Given the description of an element on the screen output the (x, y) to click on. 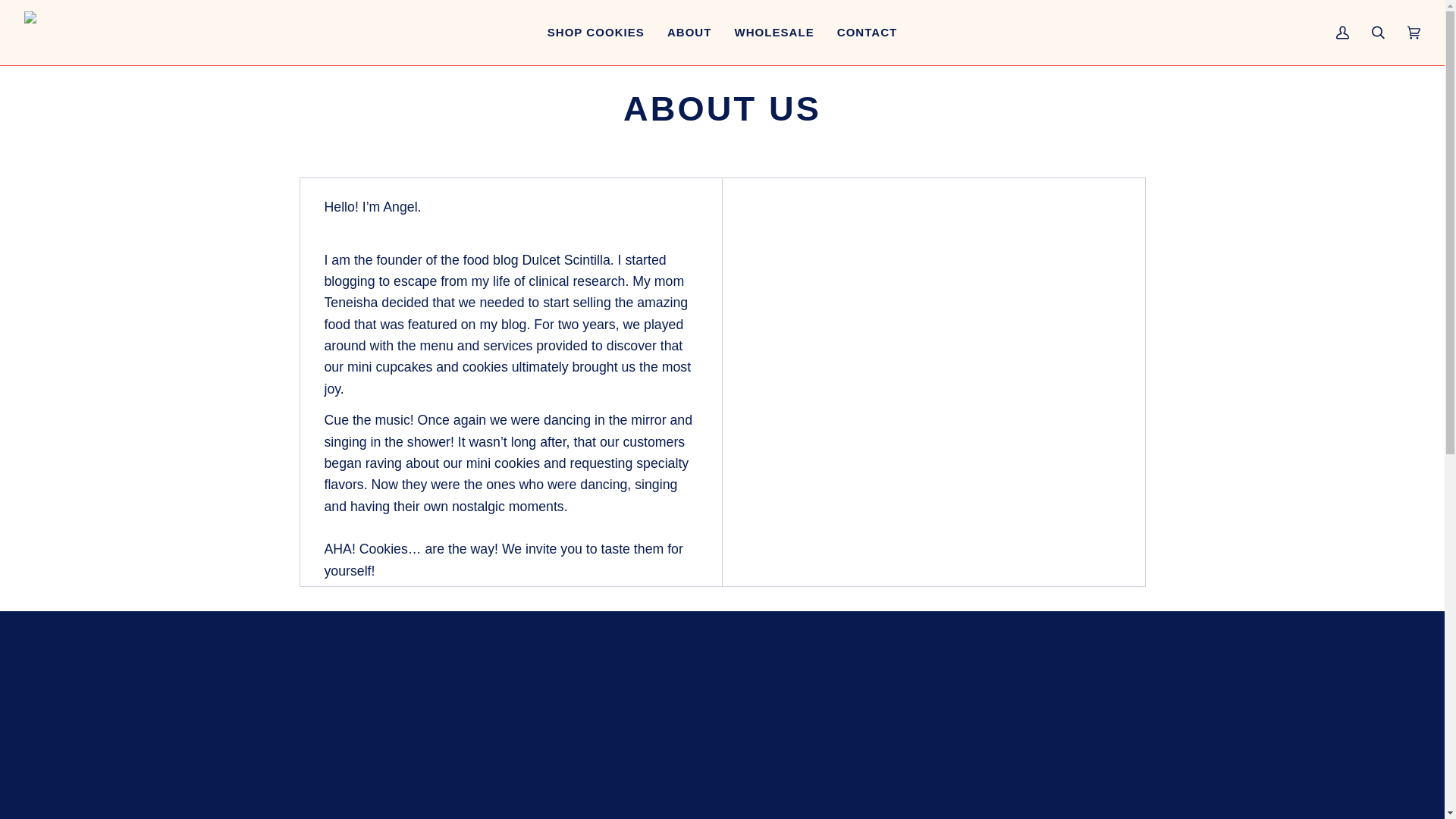
CONTACT (866, 32)
SHOP COOKIES (595, 32)
ABOUT (689, 32)
WHOLESALE (773, 32)
Zoom (721, 727)
Zoom (248, 727)
